Given the description of an element on the screen output the (x, y) to click on. 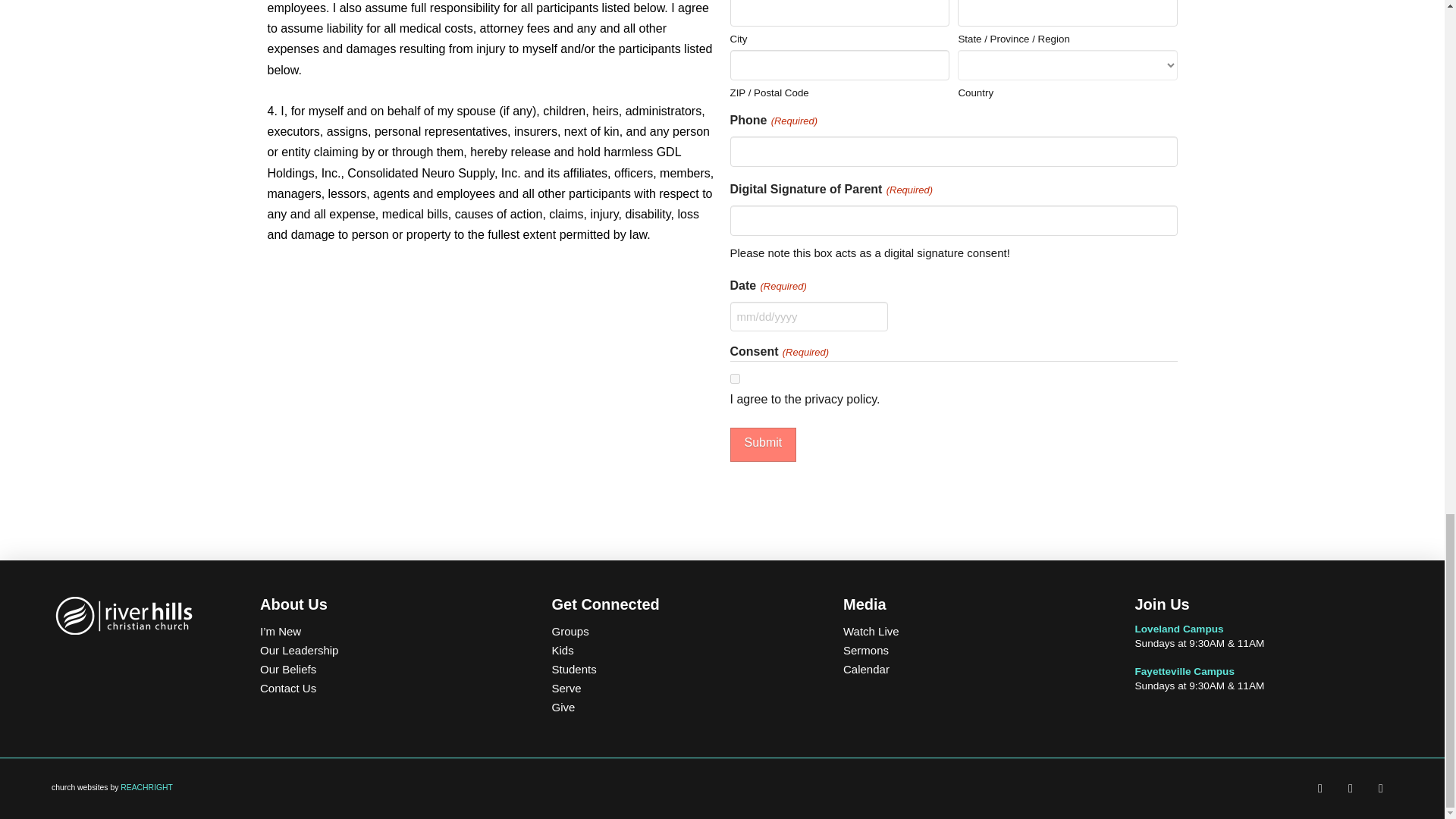
Give (679, 706)
REACHRIGHT (146, 786)
Watch Live (971, 630)
Loveland Campus (1178, 628)
Fayetteville Campus (1183, 671)
1 (734, 378)
Kids (679, 650)
Submit (762, 444)
Our Beliefs (387, 669)
Serve (679, 687)
